Given the description of an element on the screen output the (x, y) to click on. 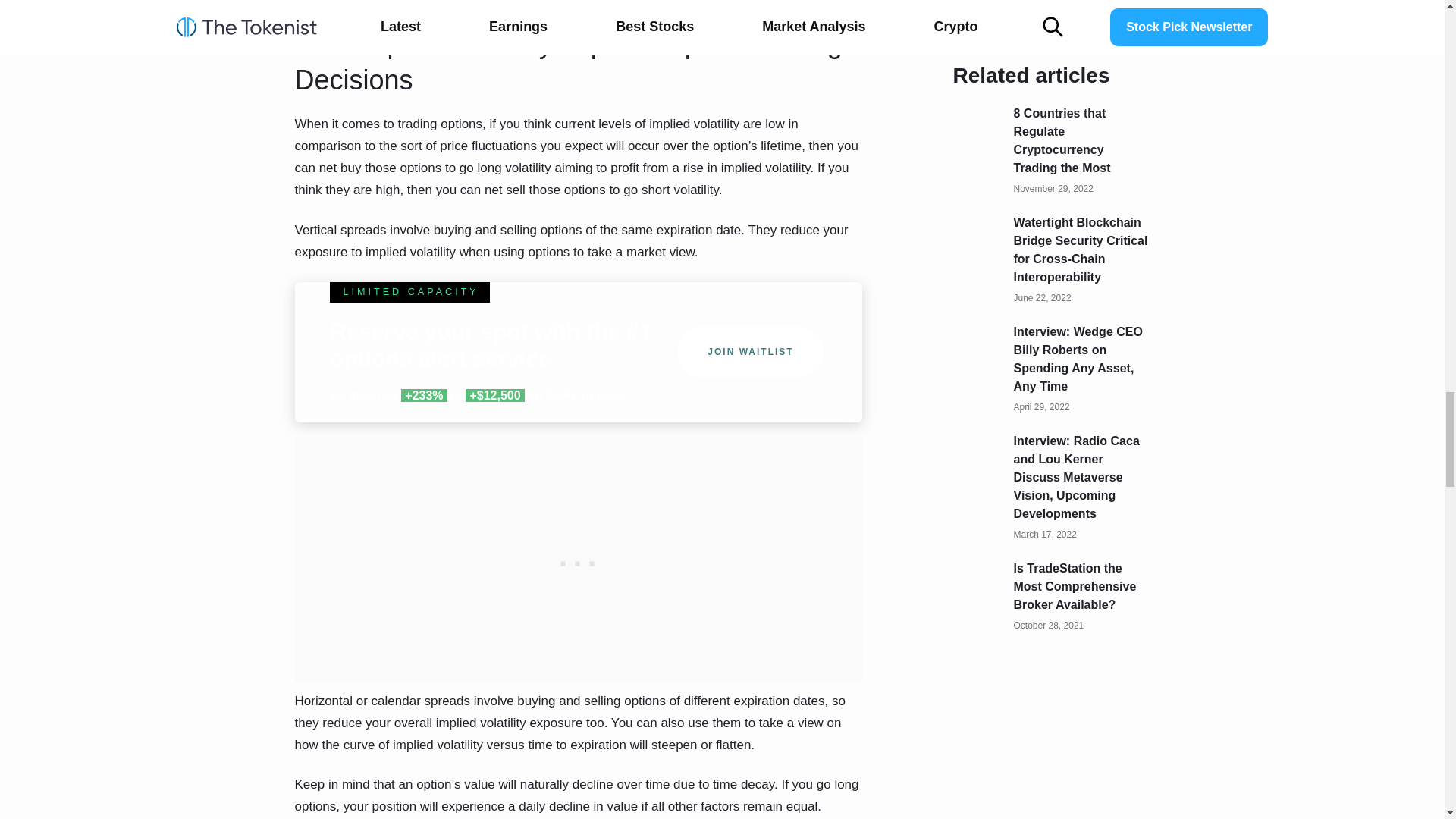
JOIN WAITLIST (751, 351)
